Given the description of an element on the screen output the (x, y) to click on. 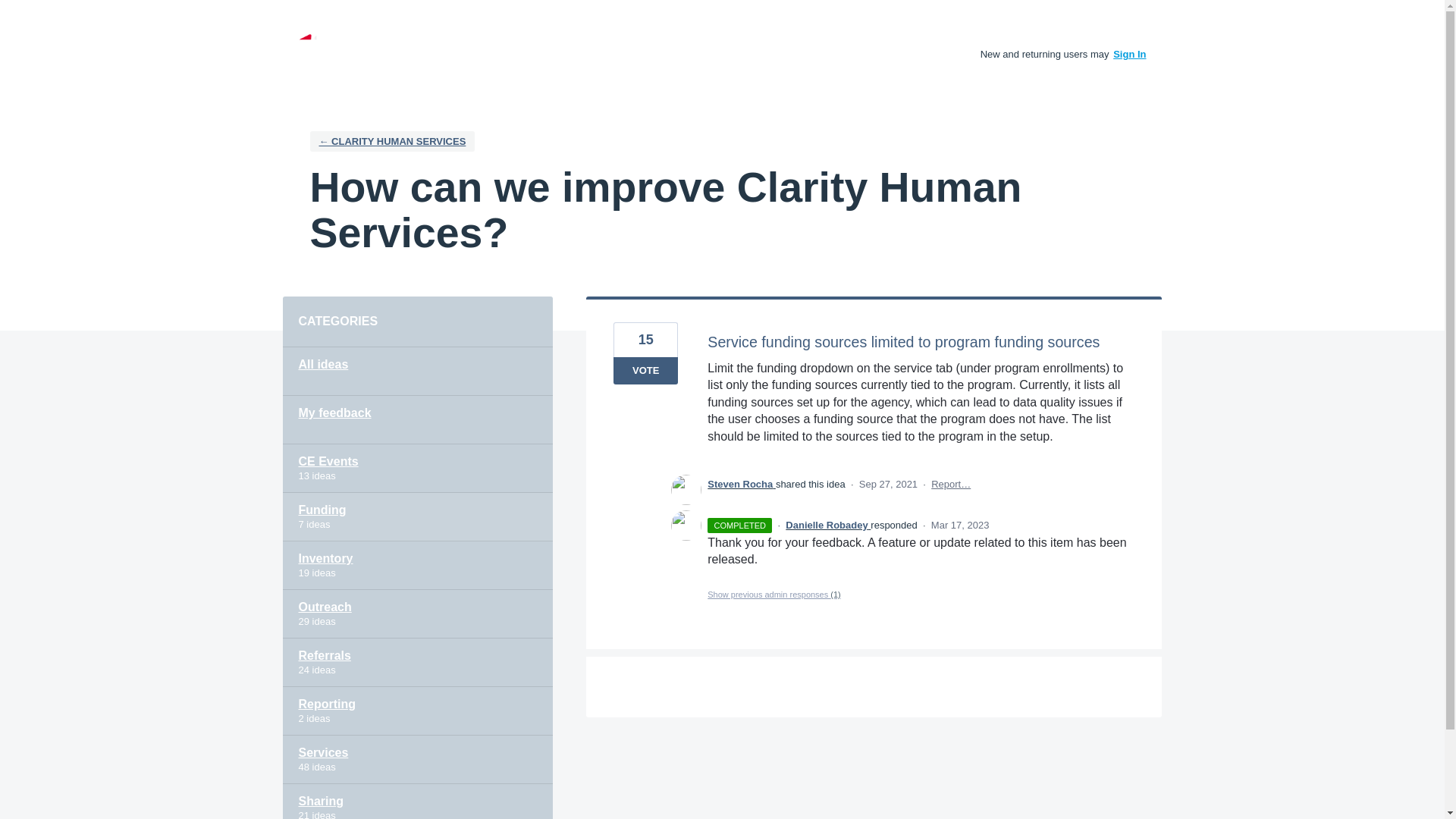
View all ideas in category Outreach (417, 613)
Sharing (417, 801)
My feedback (417, 419)
Services (417, 759)
Danielle Robadey (828, 524)
Skip to content (12, 12)
All ideas (417, 371)
CE Events (417, 468)
View all ideas in category Sharing (417, 801)
Outreach (417, 613)
